Given the description of an element on the screen output the (x, y) to click on. 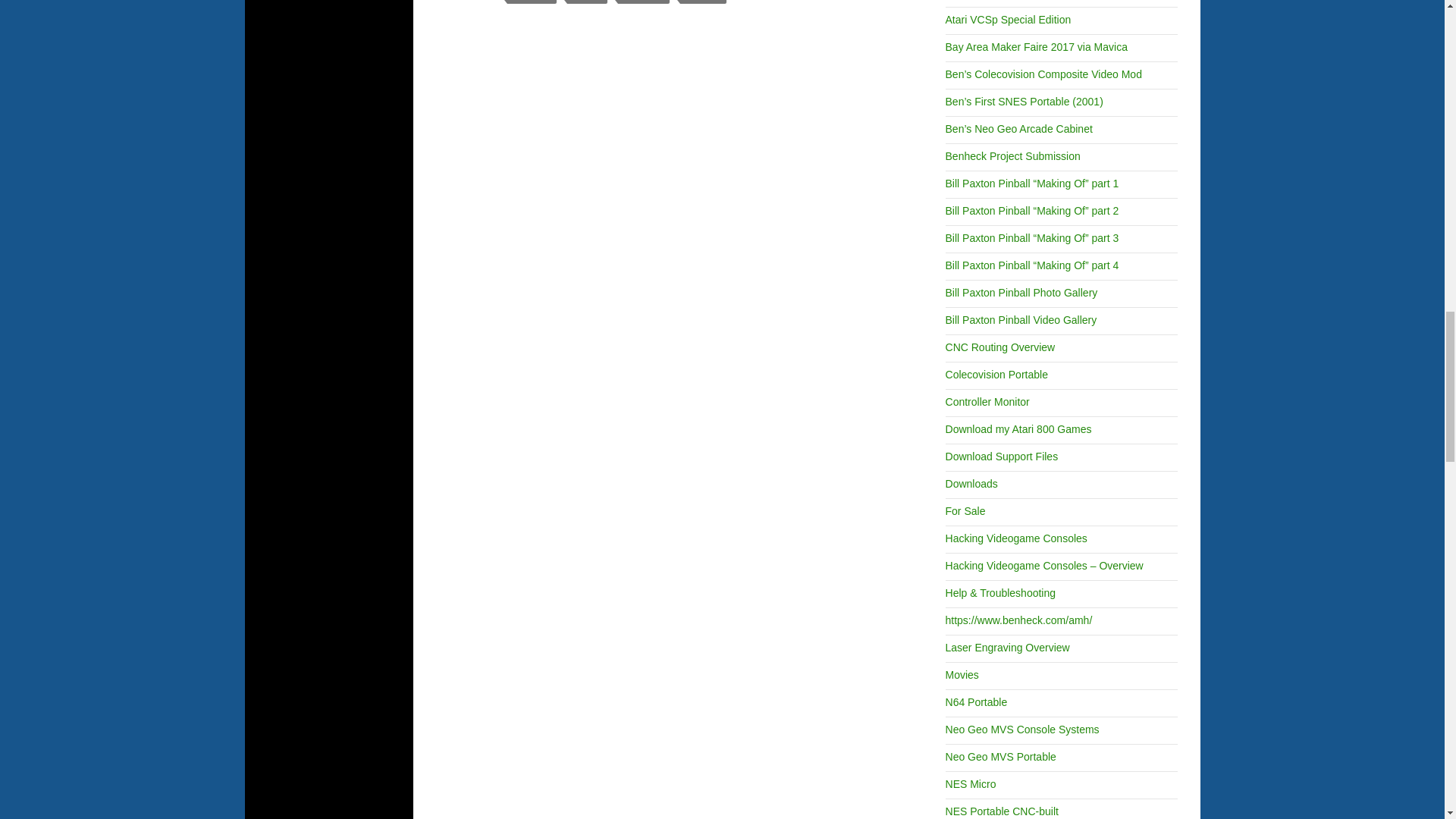
GHOST (587, 2)
HAUNTED (643, 2)
PINBALL (702, 2)
AMERICA (531, 2)
